Given the description of an element on the screen output the (x, y) to click on. 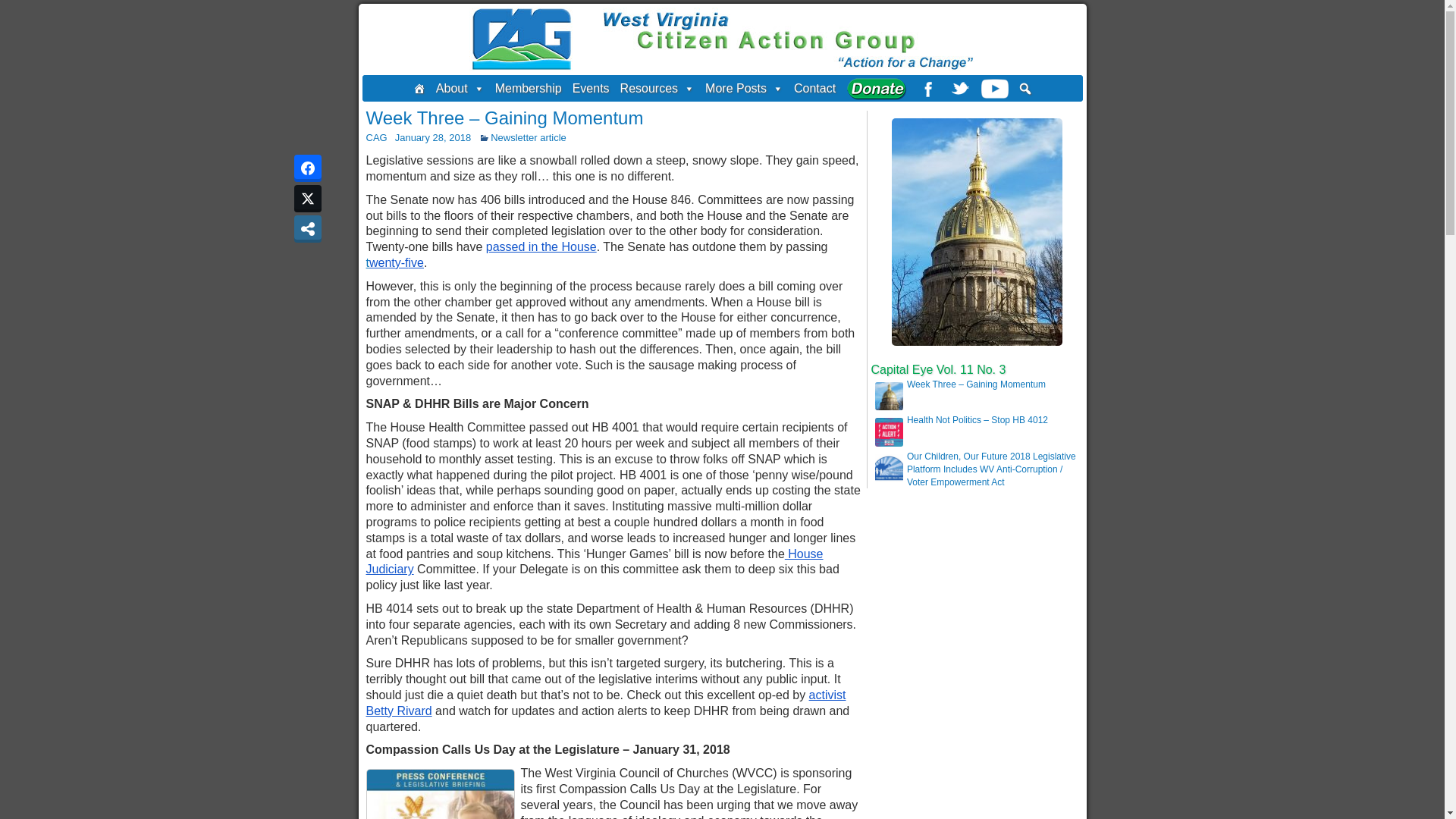
About (459, 87)
January 28, 2018 (432, 137)
CAG (376, 137)
Share on other apps (307, 228)
Resources (657, 87)
Share on Twitter (307, 198)
Newsletter article (528, 137)
Contact (815, 87)
Share on Facebook (307, 167)
Search (11, 7)
Events (590, 87)
Membership (528, 87)
More Posts (744, 87)
